Given the description of an element on the screen output the (x, y) to click on. 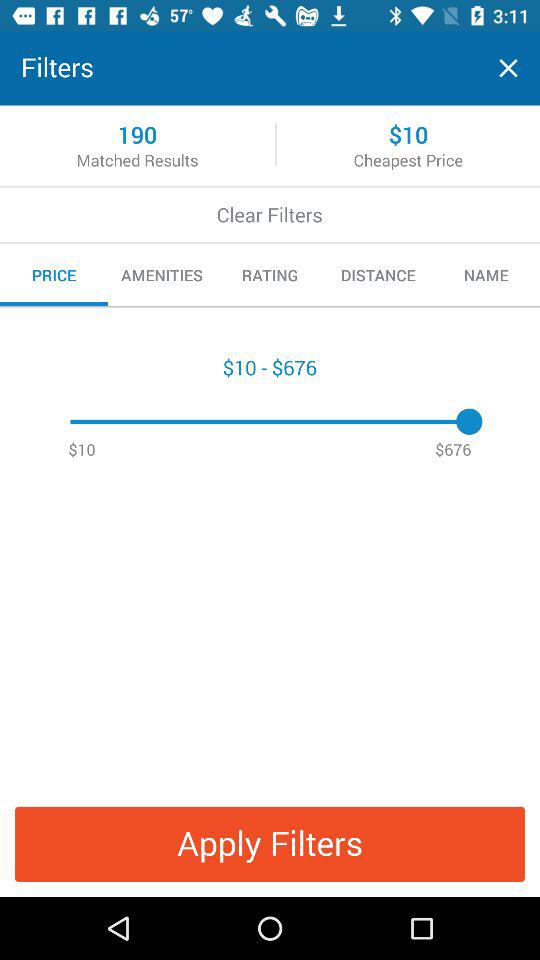
turn on the distance item (378, 275)
